Given the description of an element on the screen output the (x, y) to click on. 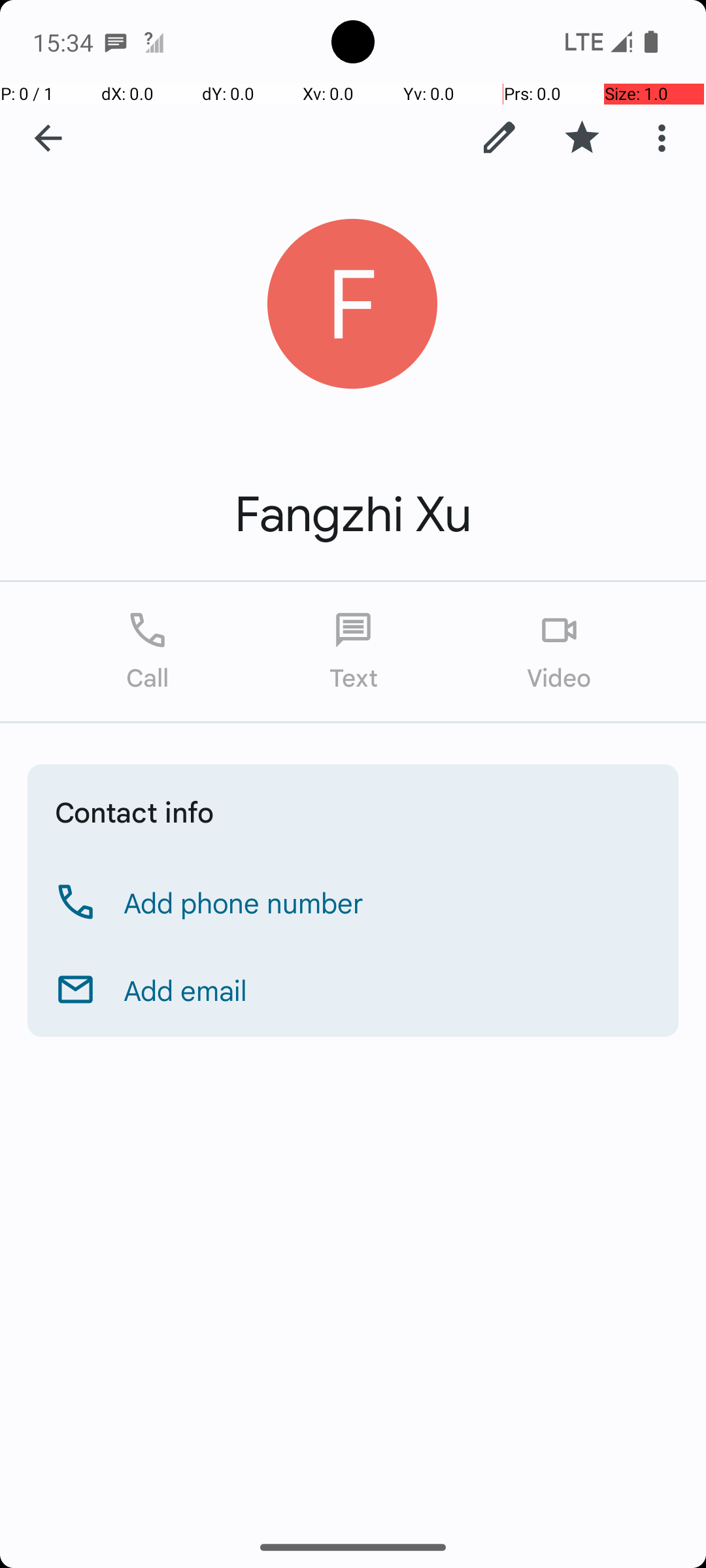
Edit contact Element type: android.widget.Button (498, 137)
Contact photo Element type: android.widget.ImageView (352, 303)
Text Element type: android.widget.TextView (353, 651)
Fangzhi Xu Element type: android.widget.TextView (352, 514)
Contact info Element type: android.widget.TextView (134, 811)
Add phone number Element type: android.widget.TextView (243, 901)
Add email Element type: android.widget.TextView (185, 989)
